Given the description of an element on the screen output the (x, y) to click on. 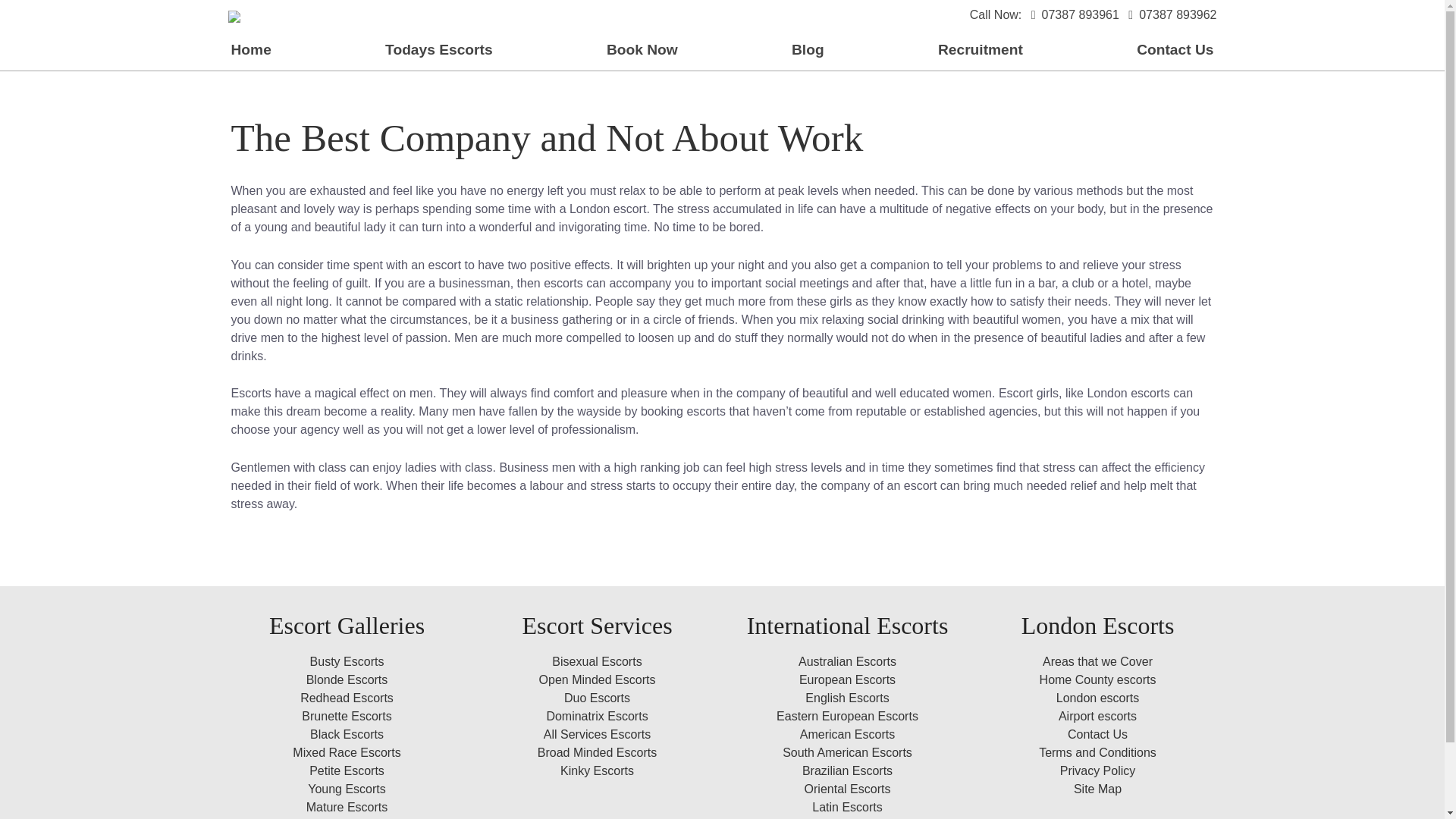
Brunette Escorts (346, 716)
London escorts (1097, 697)
Brazilian Escorts (847, 770)
English Escorts (846, 697)
South American Escorts (847, 752)
Open Minded Escorts (597, 679)
Diamond Escorts Logo (233, 14)
Young Escorts (346, 788)
07387 893961 (1072, 14)
Dominatrix Escorts (596, 716)
Australian Escorts (846, 661)
Duo Escorts (597, 697)
Oriental Escorts (848, 788)
All Services Escorts (596, 734)
Areas that we Cover (1097, 661)
